Given the description of an element on the screen output the (x, y) to click on. 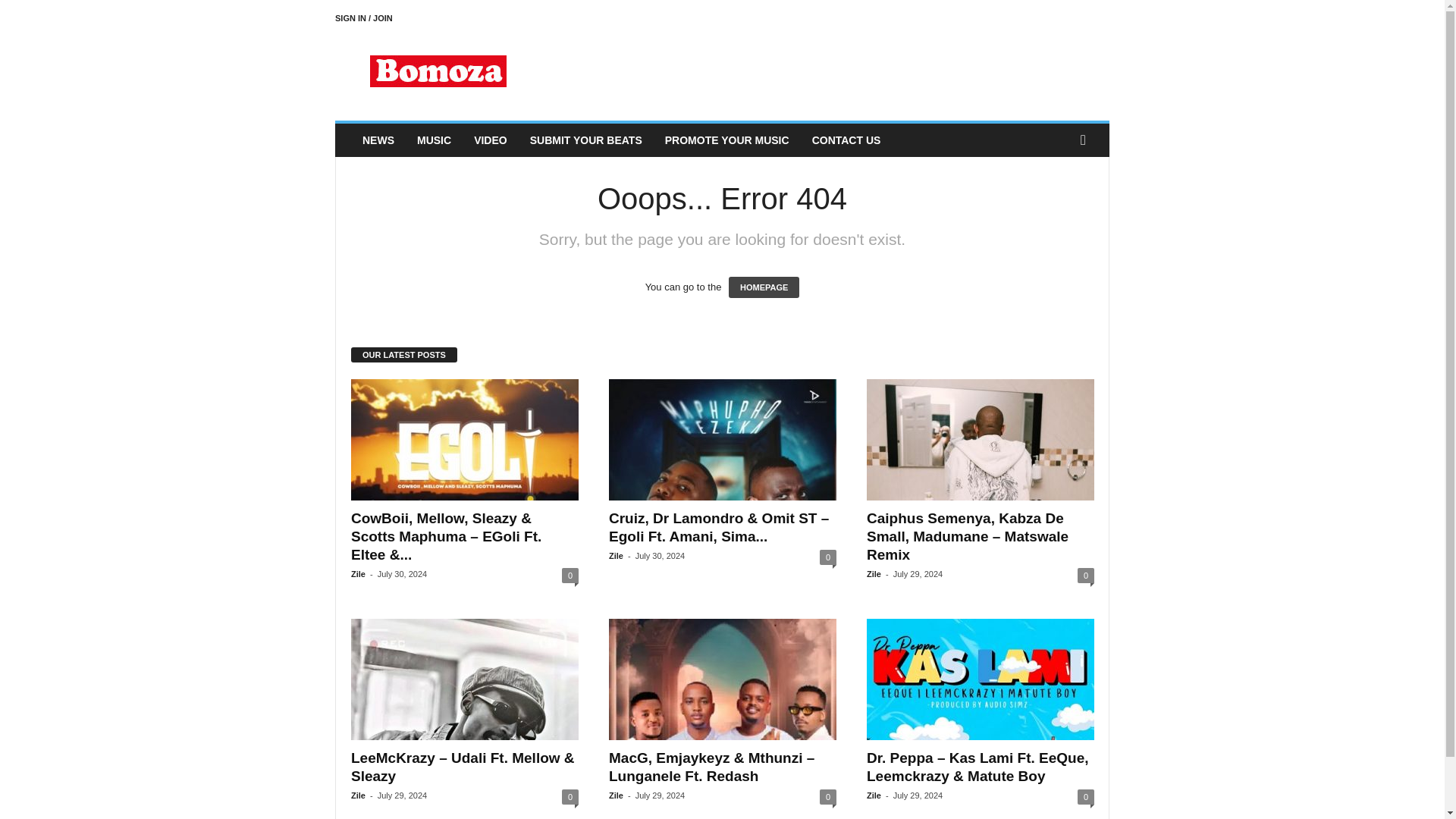
SUBMIT YOUR BEATS (585, 140)
Zile (357, 573)
Zile (357, 795)
Bomoza (437, 70)
0 (570, 796)
CONTACT US (846, 140)
PROMOTE YOUR MUSIC (726, 140)
0 (827, 557)
Zile (615, 555)
Zile (873, 573)
NEWS (378, 140)
VIDEO (490, 140)
MUSIC (434, 140)
0 (570, 575)
0 (1085, 575)
